Given the description of an element on the screen output the (x, y) to click on. 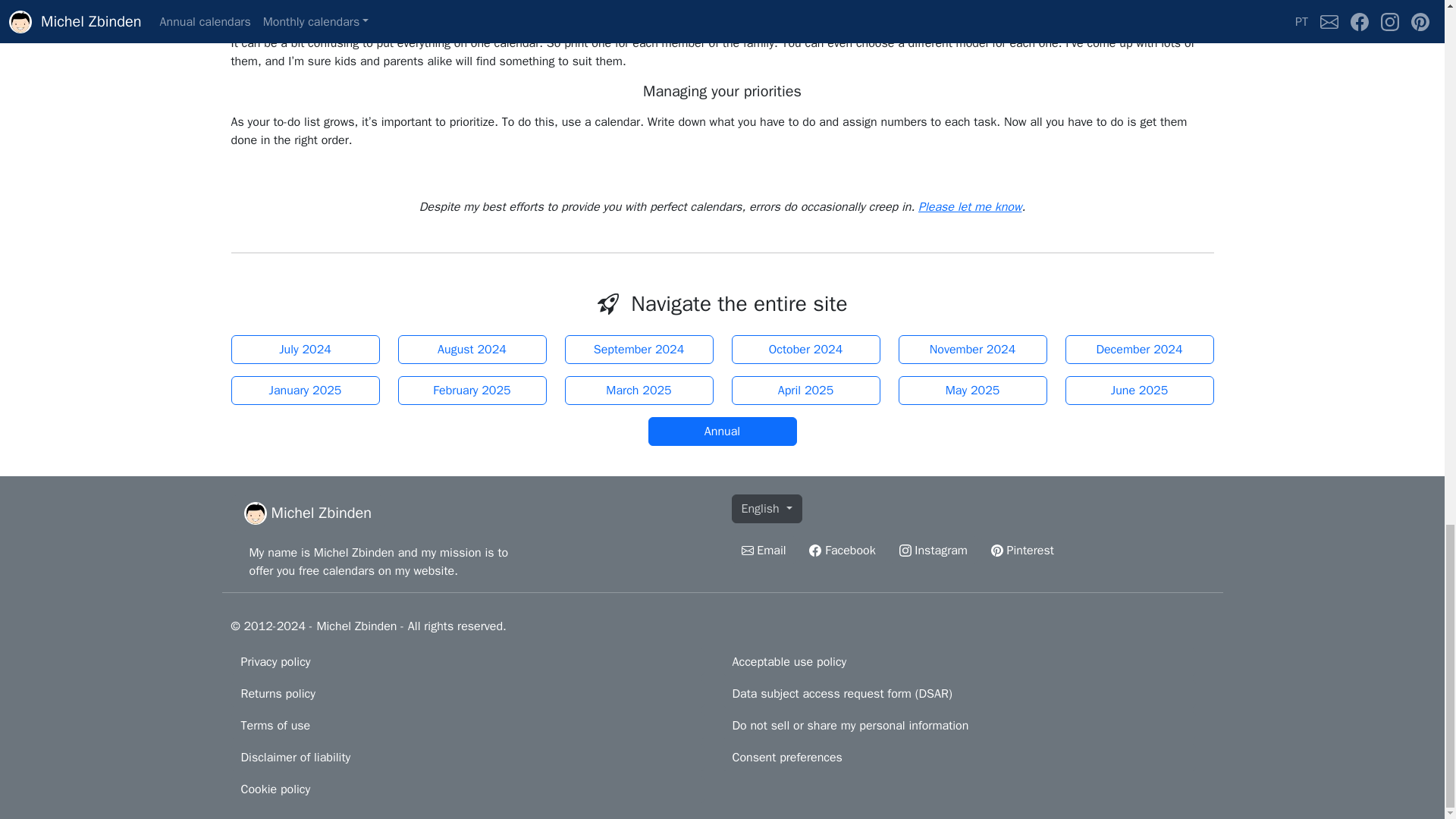
Please let me know (970, 206)
Michel Zbinden EN (307, 512)
November 2024 (972, 348)
August 2024 (471, 348)
Facebook (842, 550)
Instagram (932, 550)
Email (970, 206)
Email (762, 550)
July 2024 (304, 348)
October 2024 (804, 348)
Pinterest (1022, 550)
September 2024 (638, 348)
